Given the description of an element on the screen output the (x, y) to click on. 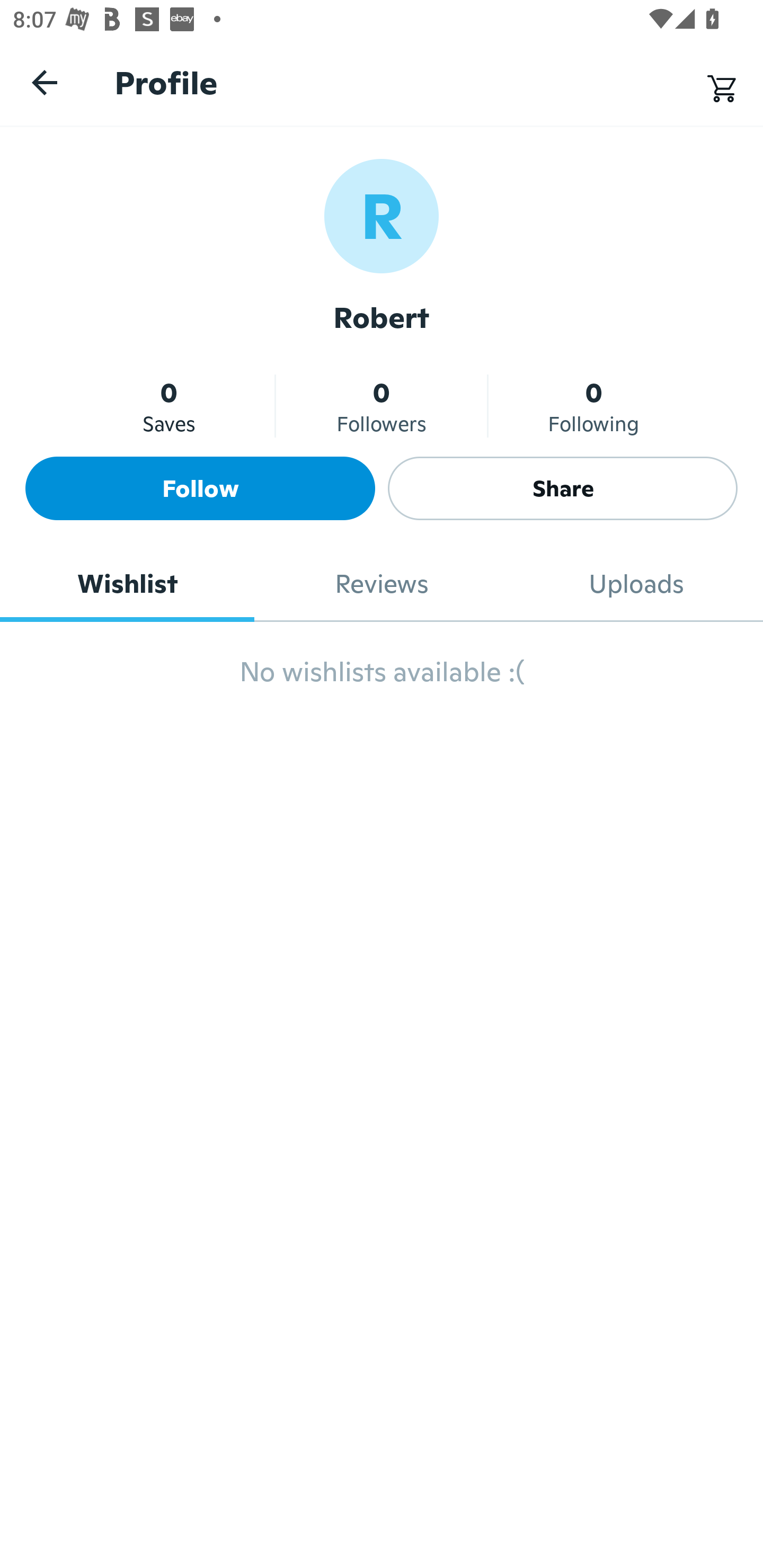
Navigate up (44, 82)
R (381, 215)
0 Followers (381, 405)
0 Following (593, 405)
Follow (200, 488)
Share (562, 488)
Wishlist (127, 583)
Reviews (381, 583)
Uploads (635, 583)
No wishlists available :( (381, 679)
